Given the description of an element on the screen output the (x, y) to click on. 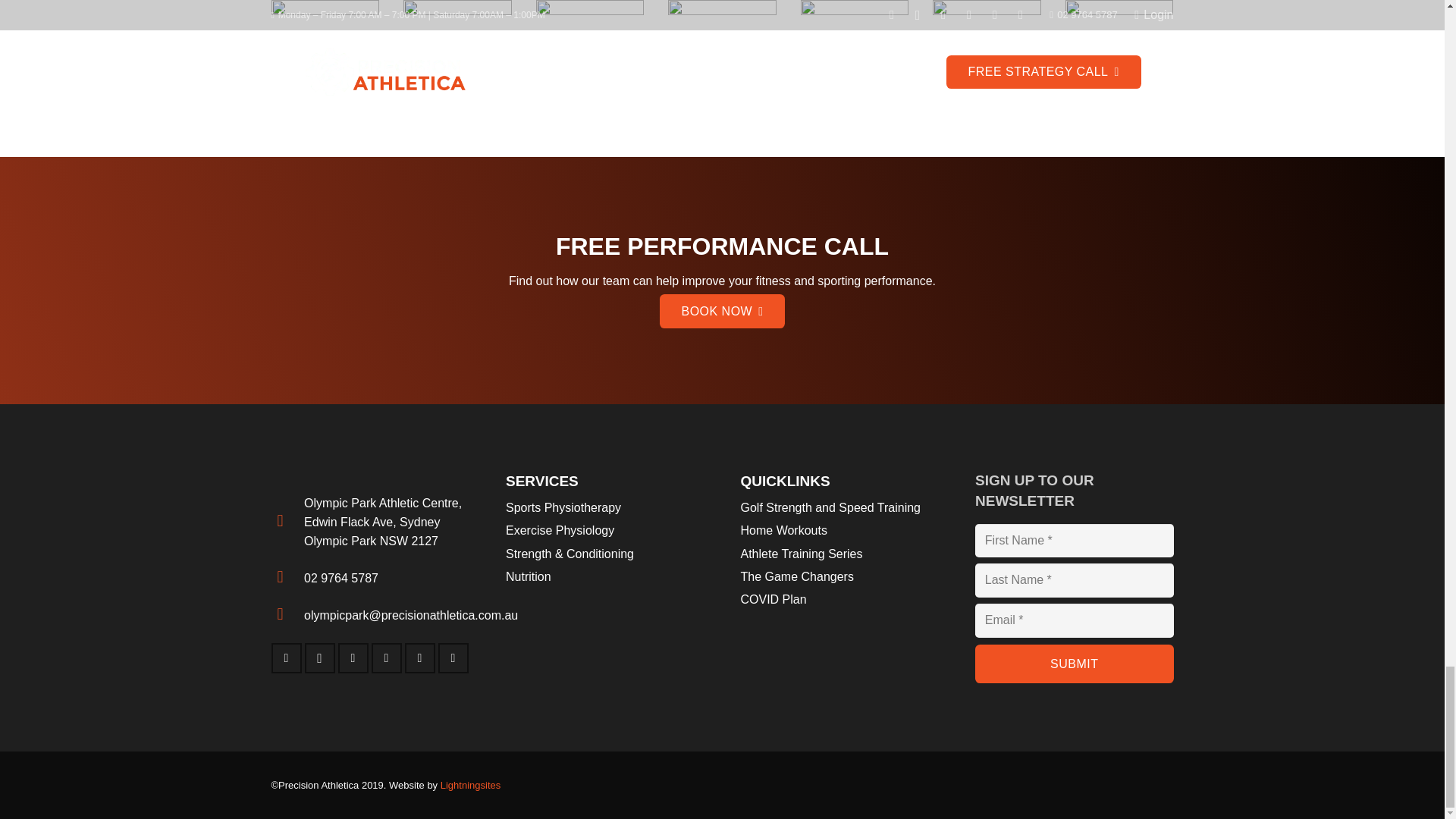
Submit (1074, 663)
